Given the description of an element on the screen output the (x, y) to click on. 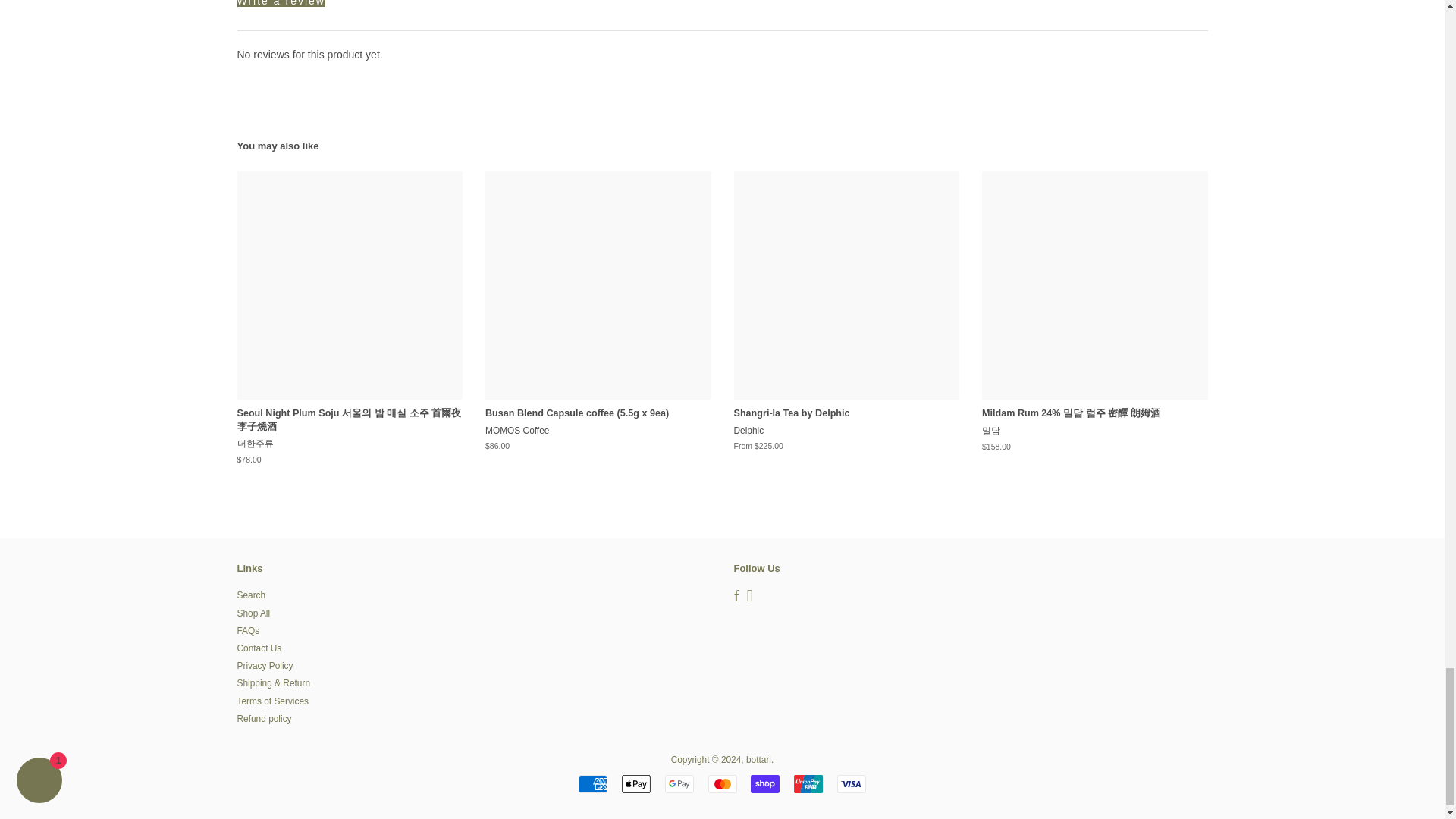
Google Pay (679, 783)
Search (249, 594)
Union Pay (807, 783)
Shop All (252, 613)
Apple Pay (635, 783)
Shop Pay (764, 783)
Visa (851, 783)
Write a review (279, 3)
Mastercard (721, 783)
American Express (592, 783)
